Given the description of an element on the screen output the (x, y) to click on. 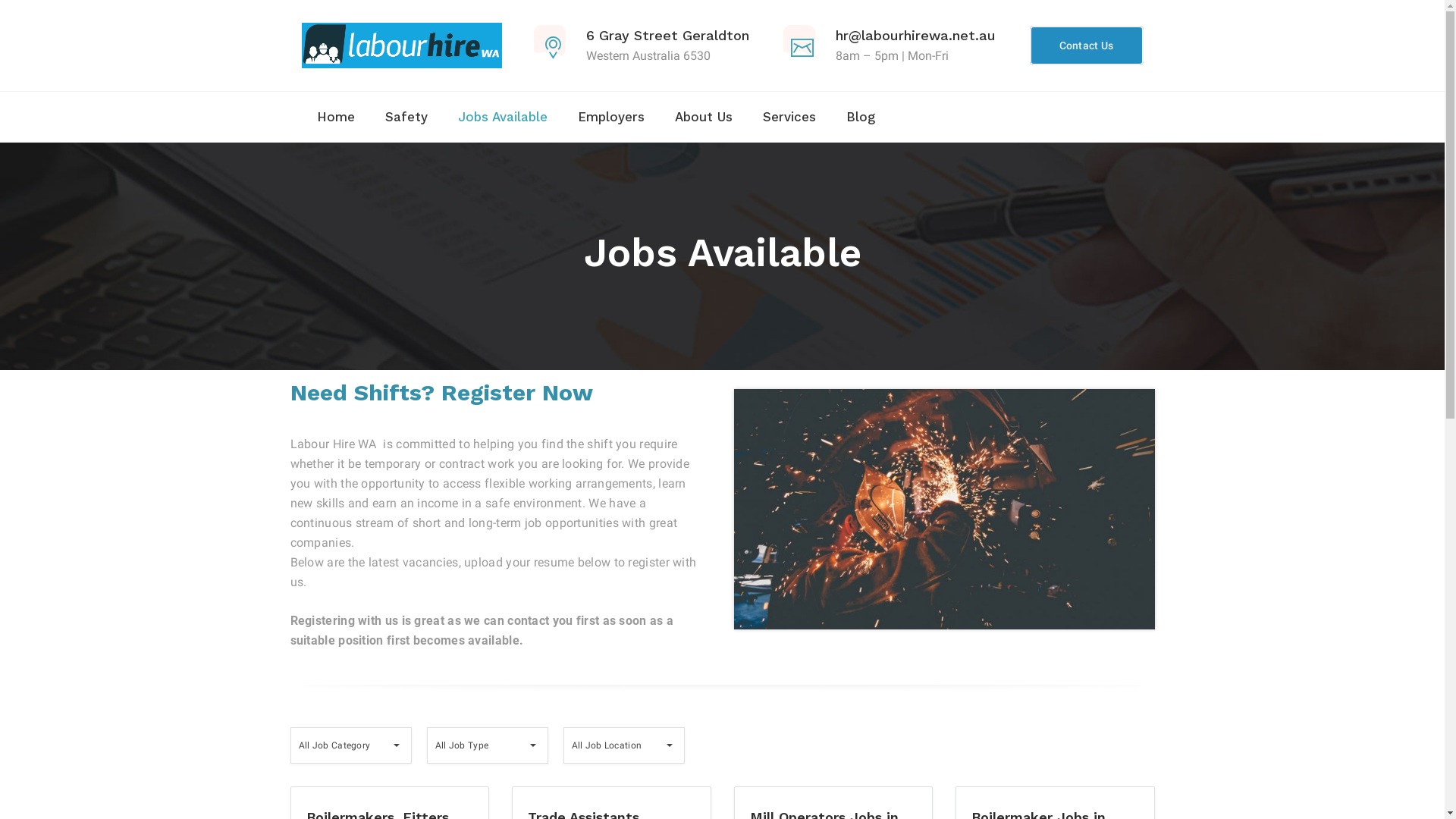
Employers Element type: text (610, 116)
Services Element type: text (788, 116)
Safety Element type: text (406, 116)
Contact Us Element type: text (1086, 45)
photo-1515713037-3712c0e5b60d Element type: hover (944, 509)
About Us Element type: text (703, 116)
Blog Element type: text (860, 116)
Home Element type: text (335, 116)
Jobs Available Element type: text (502, 116)
Labour Hire WA Element type: hover (401, 45)
